Given the description of an element on the screen output the (x, y) to click on. 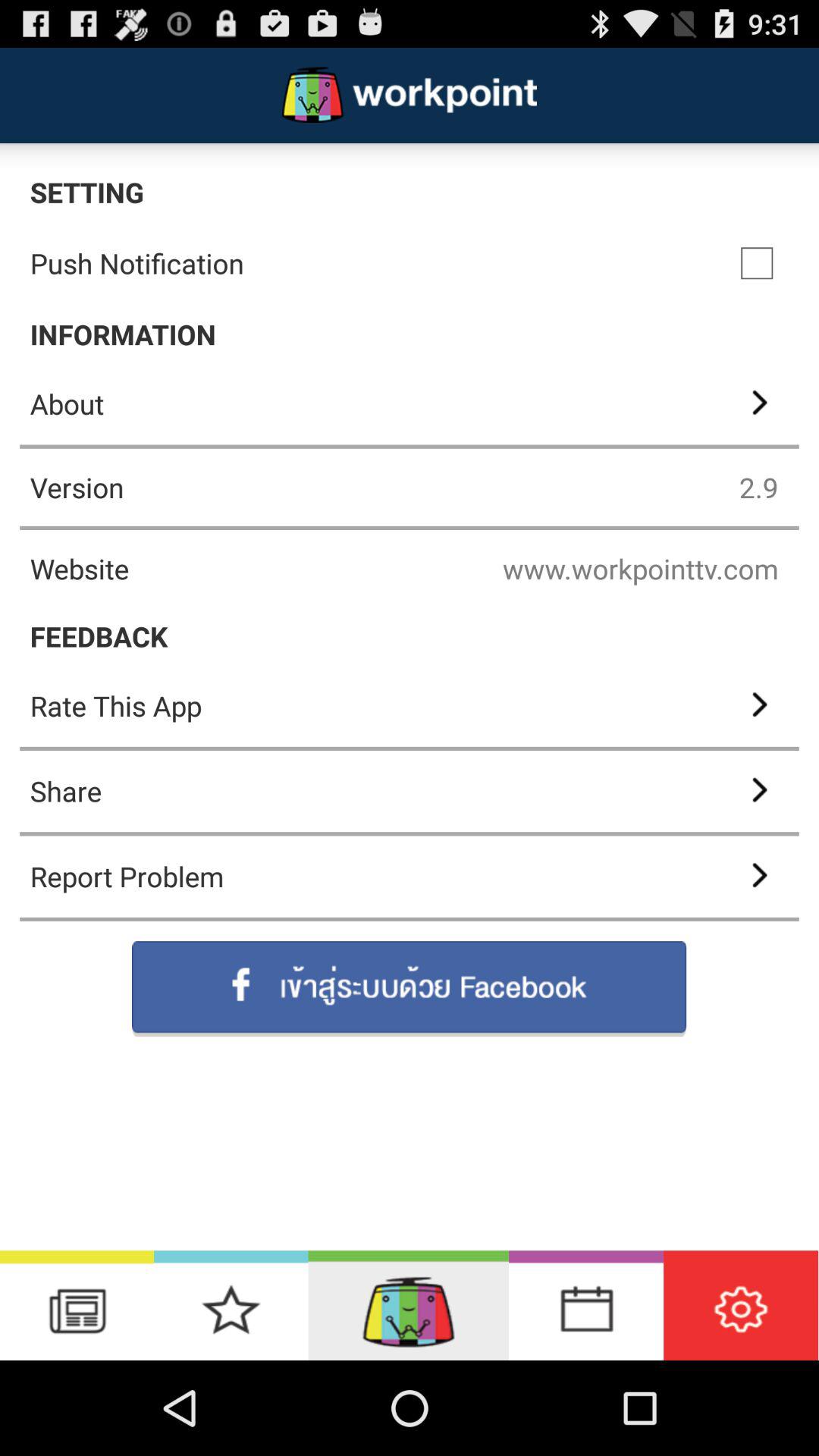
toggle workpoint (408, 1305)
